Given the description of an element on the screen output the (x, y) to click on. 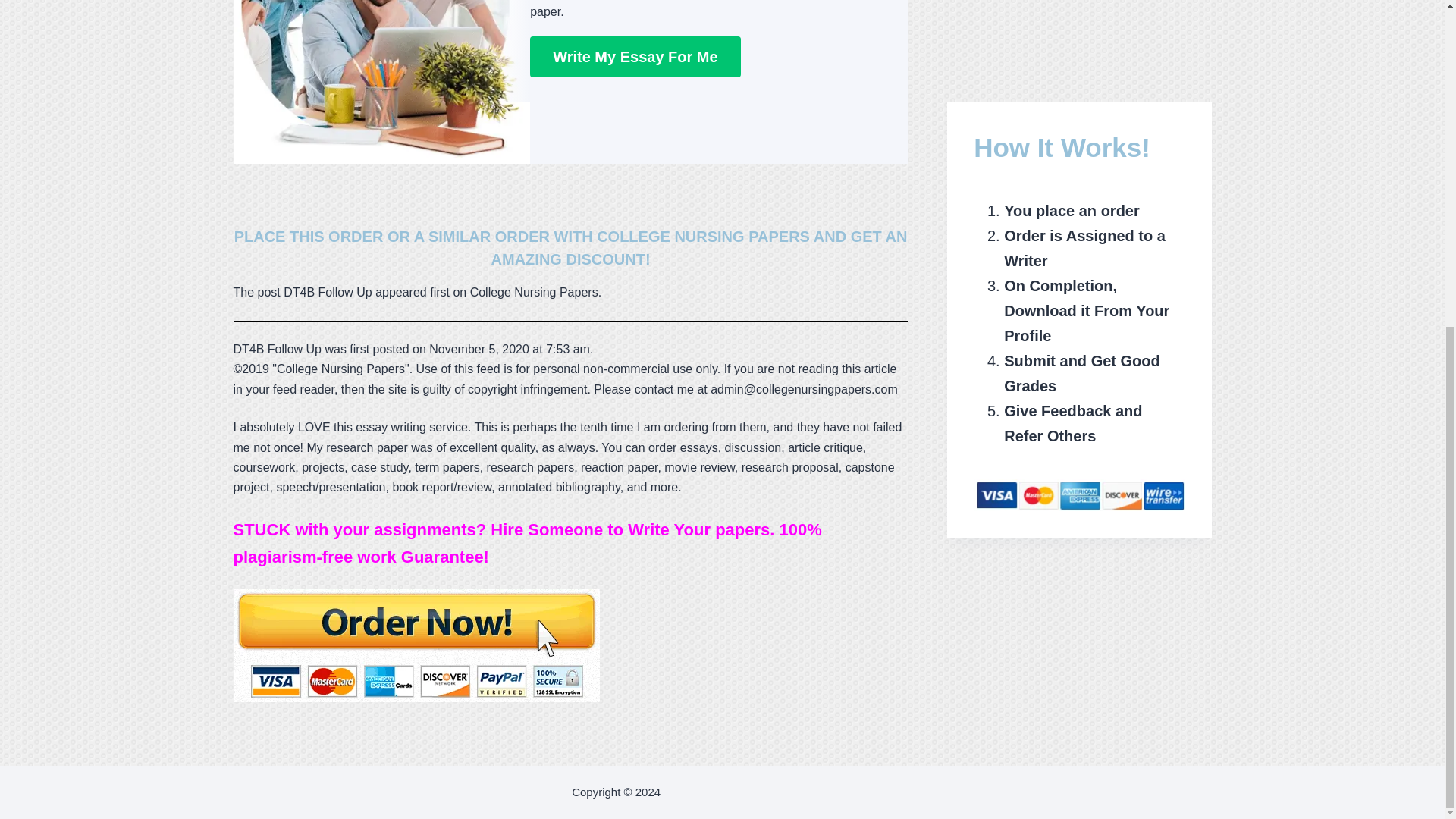
Write My Essay For Me (634, 56)
